Given the description of an element on the screen output the (x, y) to click on. 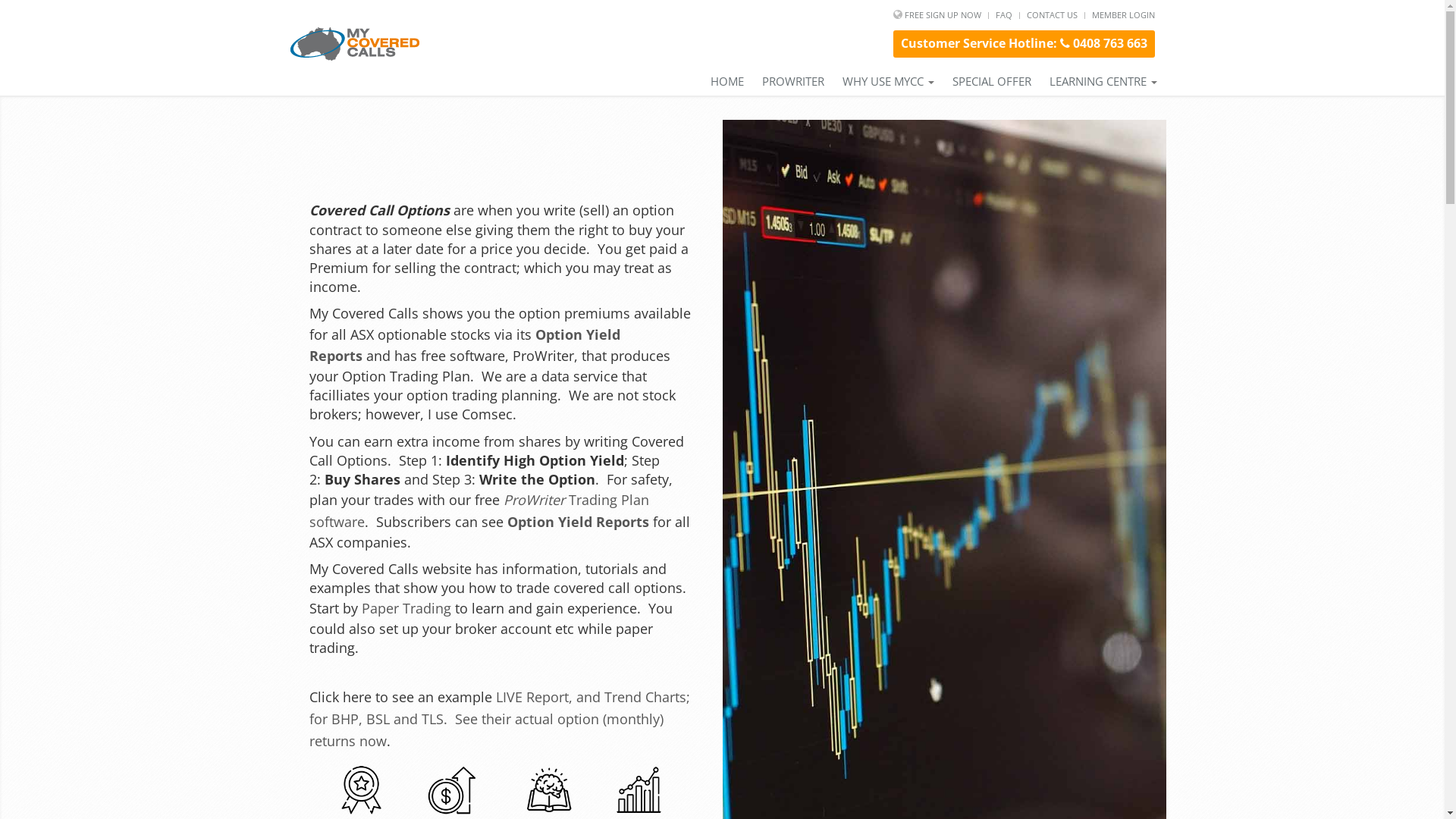
CONTACT US Element type: text (1051, 14)
FAQ Element type: text (1002, 14)
FREE SIGN UP NOW Element type: text (941, 14)
LEARNING CENTRE Element type: text (1103, 81)
Option Yield Reports Element type: text (464, 344)
PROWRITER Element type: text (792, 81)
Paper Trading Element type: text (405, 608)
HOME Element type: text (726, 81)
WHY USE MYCC Element type: text (887, 81)
ProWriter Trading Plan software Element type: text (479, 510)
SPECIAL OFFER Element type: text (991, 81)
MEMBER LOGIN Element type: text (1123, 14)
Option Yield Reports Element type: text (577, 521)
